Given the description of an element on the screen output the (x, y) to click on. 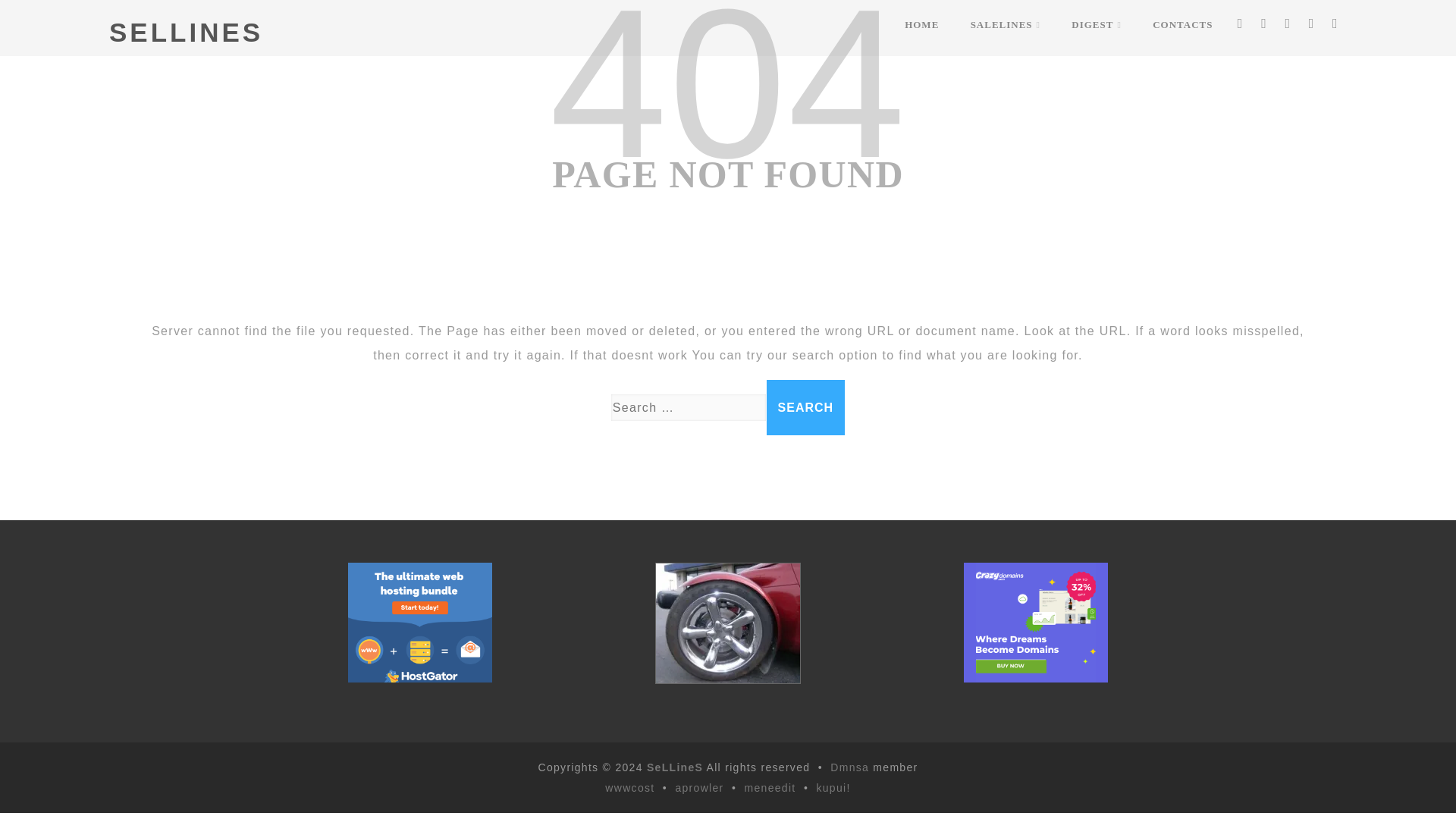
Search (806, 407)
Dmnsa (850, 767)
SELLINES (186, 31)
SeLLineS (674, 767)
wwwcost (629, 787)
kupui! (832, 787)
aprowler (699, 787)
CONTACTS (1182, 24)
meneedit (770, 787)
SALELINES (1005, 24)
HOME (921, 24)
DIGEST (1097, 24)
404 (726, 100)
Search (806, 407)
